Given the description of an element on the screen output the (x, y) to click on. 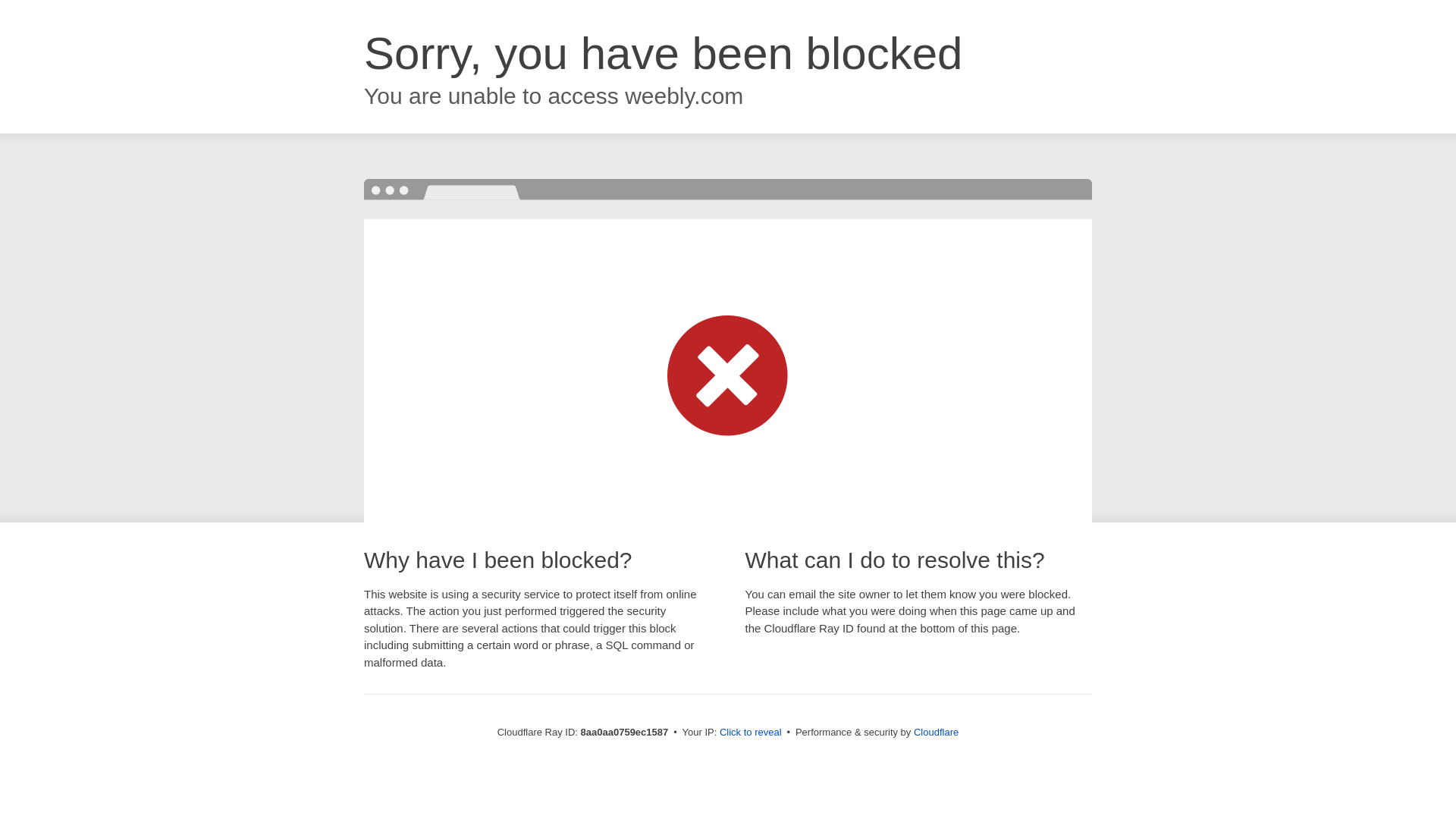
Cloudflare (936, 731)
Click to reveal (750, 732)
